Given the description of an element on the screen output the (x, y) to click on. 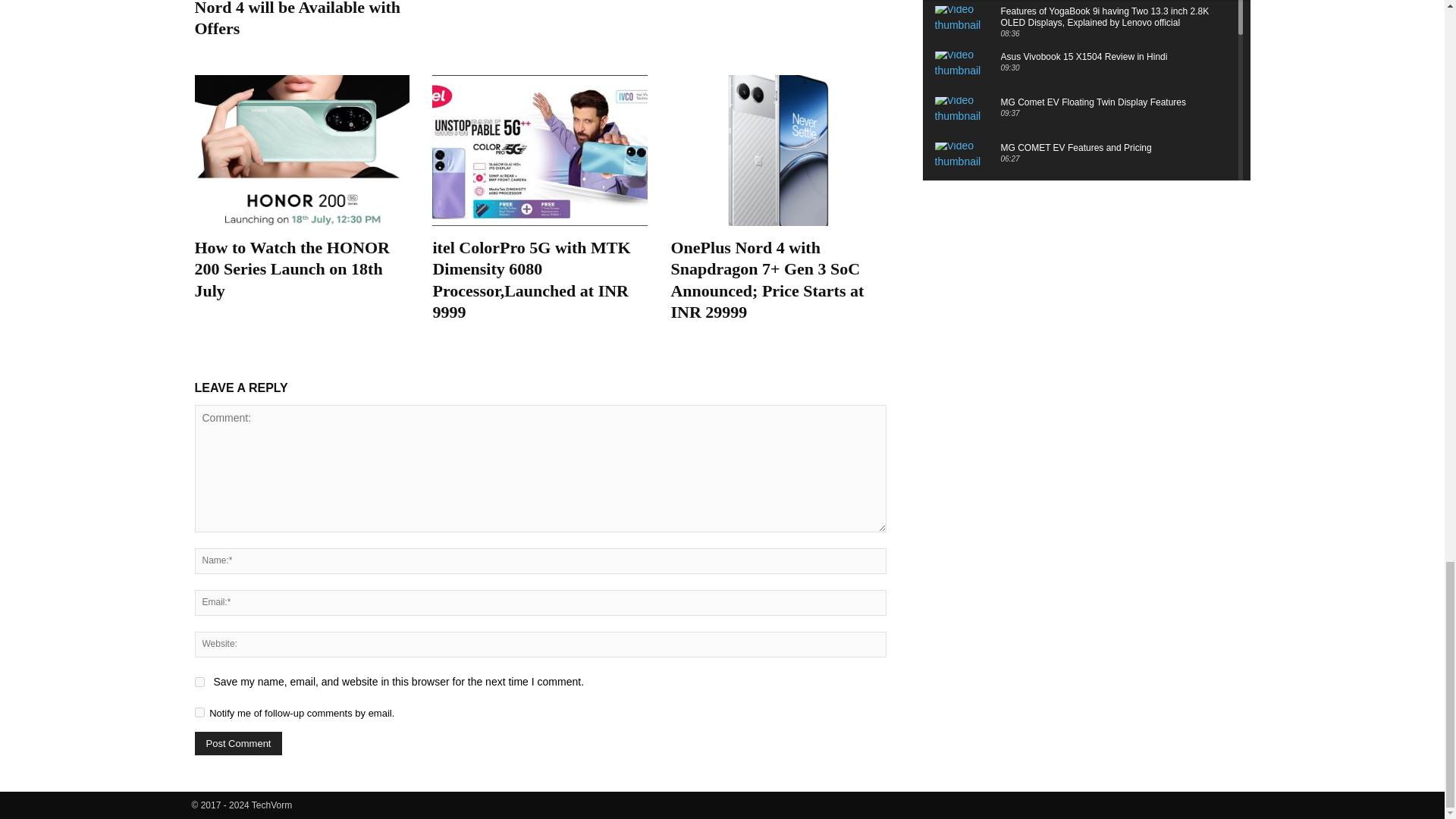
subscribe (198, 712)
yes (198, 682)
Post Comment (237, 743)
